Given the description of an element on the screen output the (x, y) to click on. 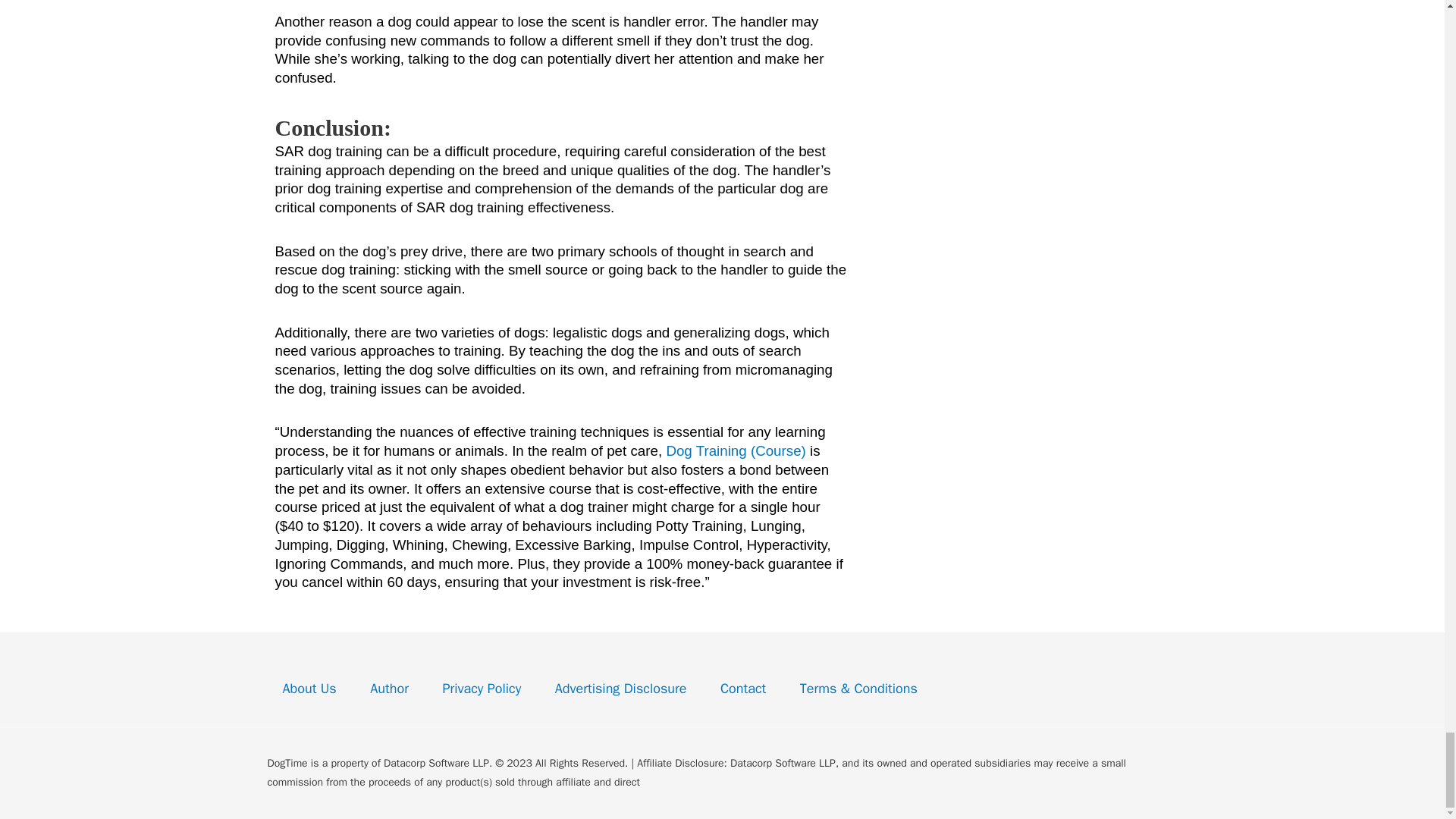
Privacy Policy (481, 688)
Author (389, 688)
Advertising Disclosure (620, 688)
Contact (742, 688)
About Us (309, 688)
